Given the description of an element on the screen output the (x, y) to click on. 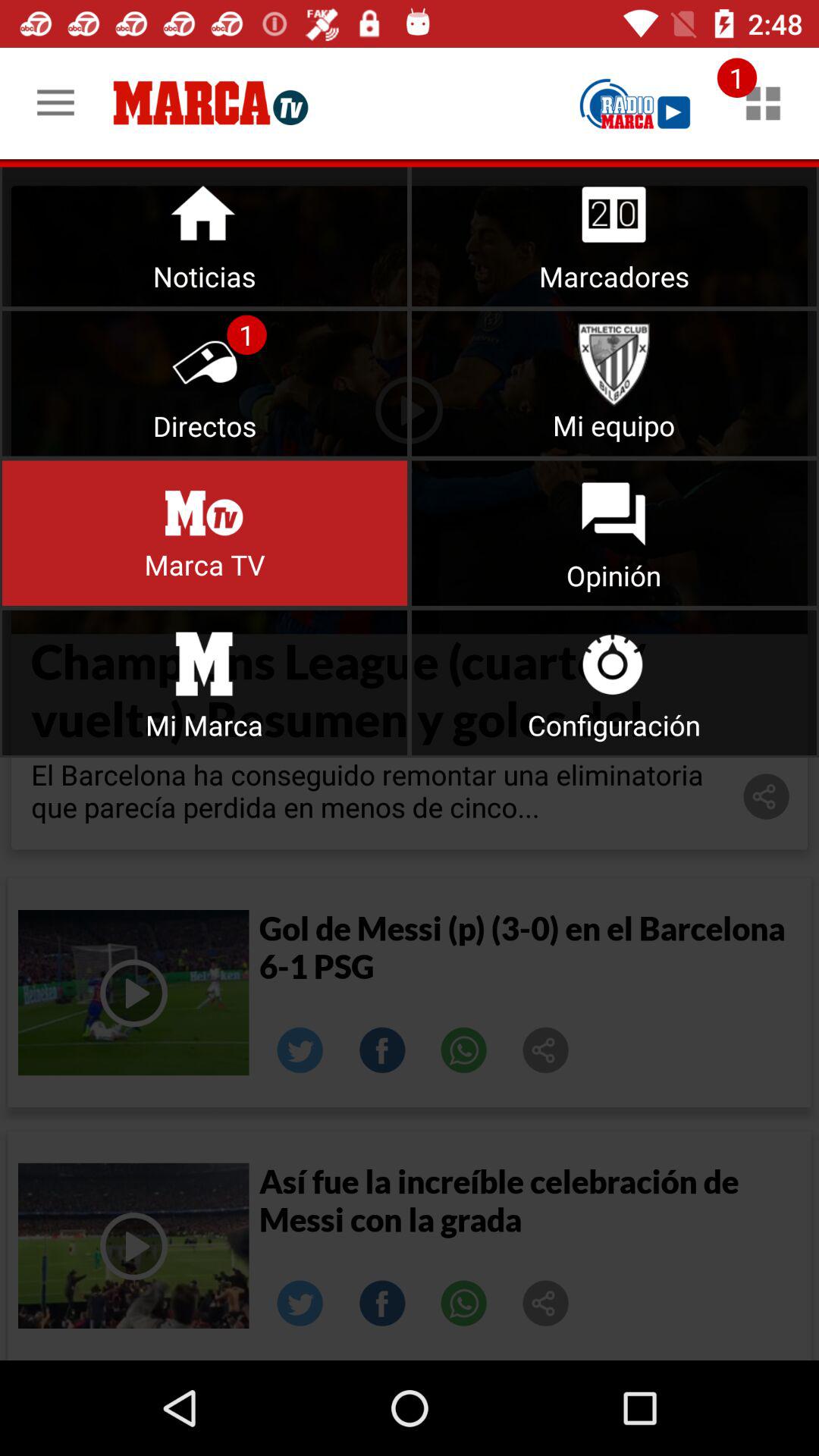
share video to facebook (382, 1050)
